Given the description of an element on the screen output the (x, y) to click on. 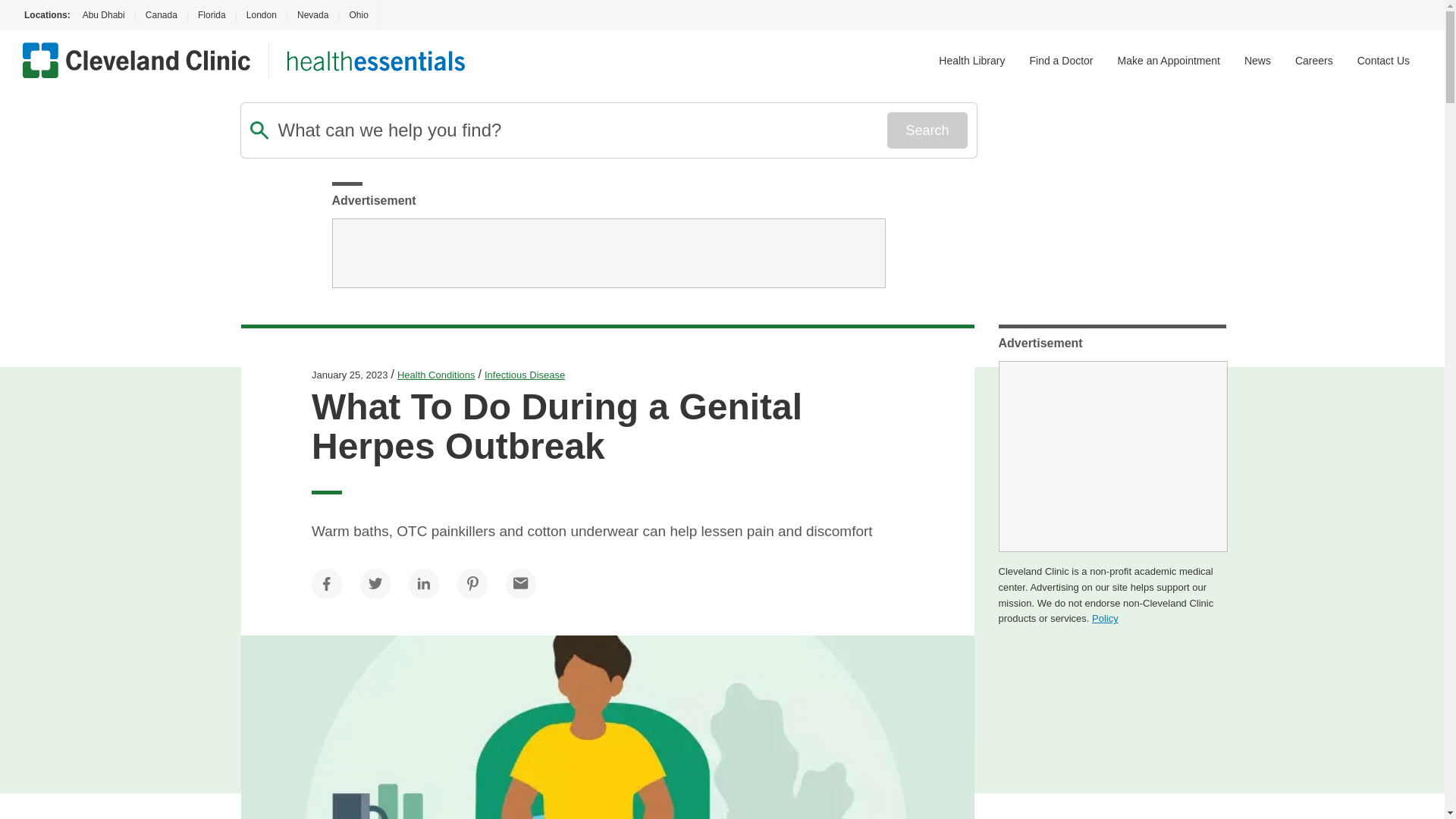
Florida (211, 15)
3rd party ad content (608, 253)
Contact Us (1382, 60)
Infectious Disease (524, 374)
Health Conditions (436, 374)
Canada (161, 15)
Ohio (358, 15)
Find a Doctor (1061, 60)
Careers (1314, 60)
London (261, 15)
Abu Dhabi (101, 15)
Health Library (971, 60)
Make an Appointment (1169, 60)
3rd party ad content (1112, 456)
News (1257, 60)
